Given the description of an element on the screen output the (x, y) to click on. 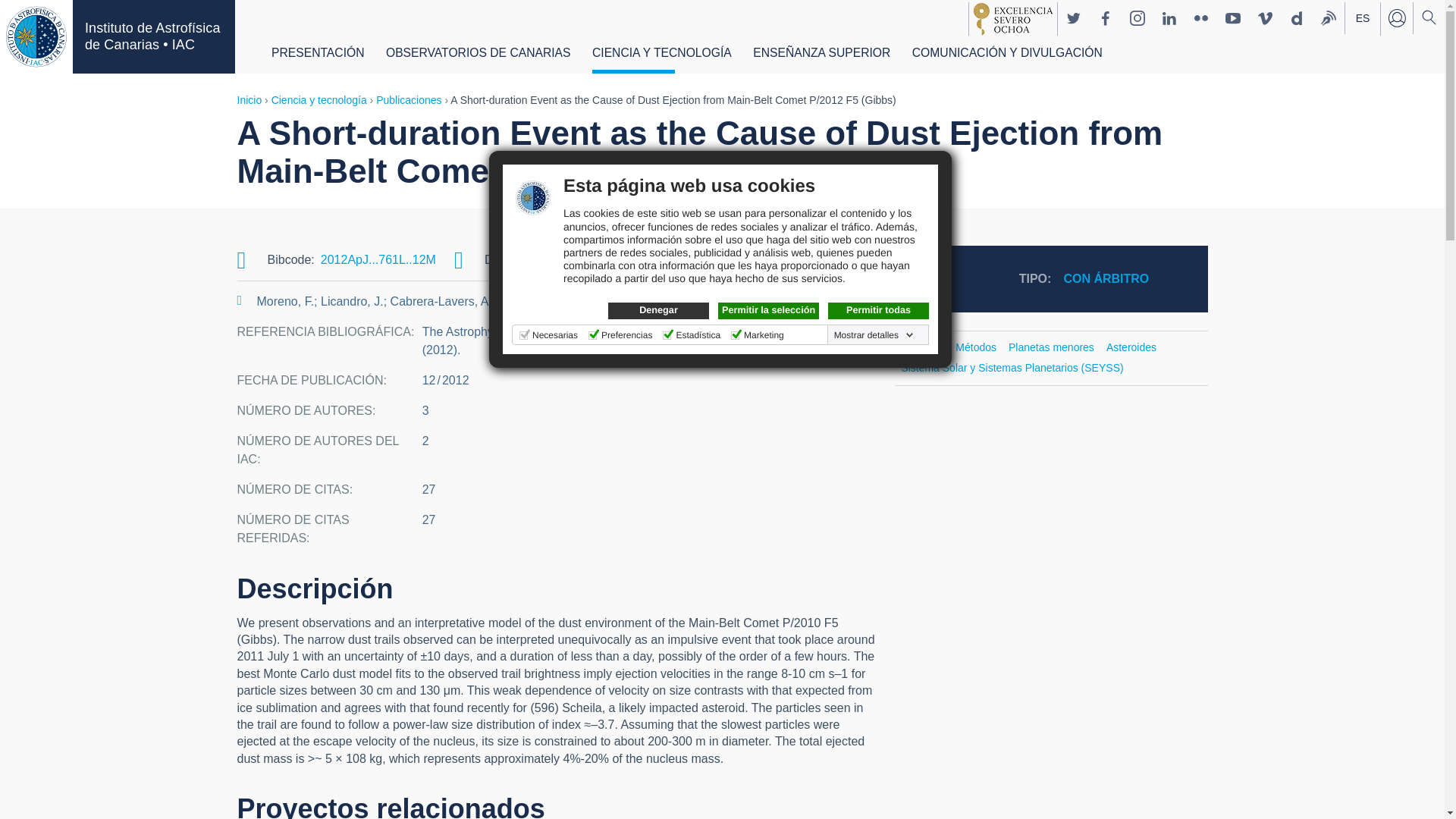
Mostrar detalles (874, 335)
Denegar (658, 310)
Permitir todas (878, 310)
